Given the description of an element on the screen output the (x, y) to click on. 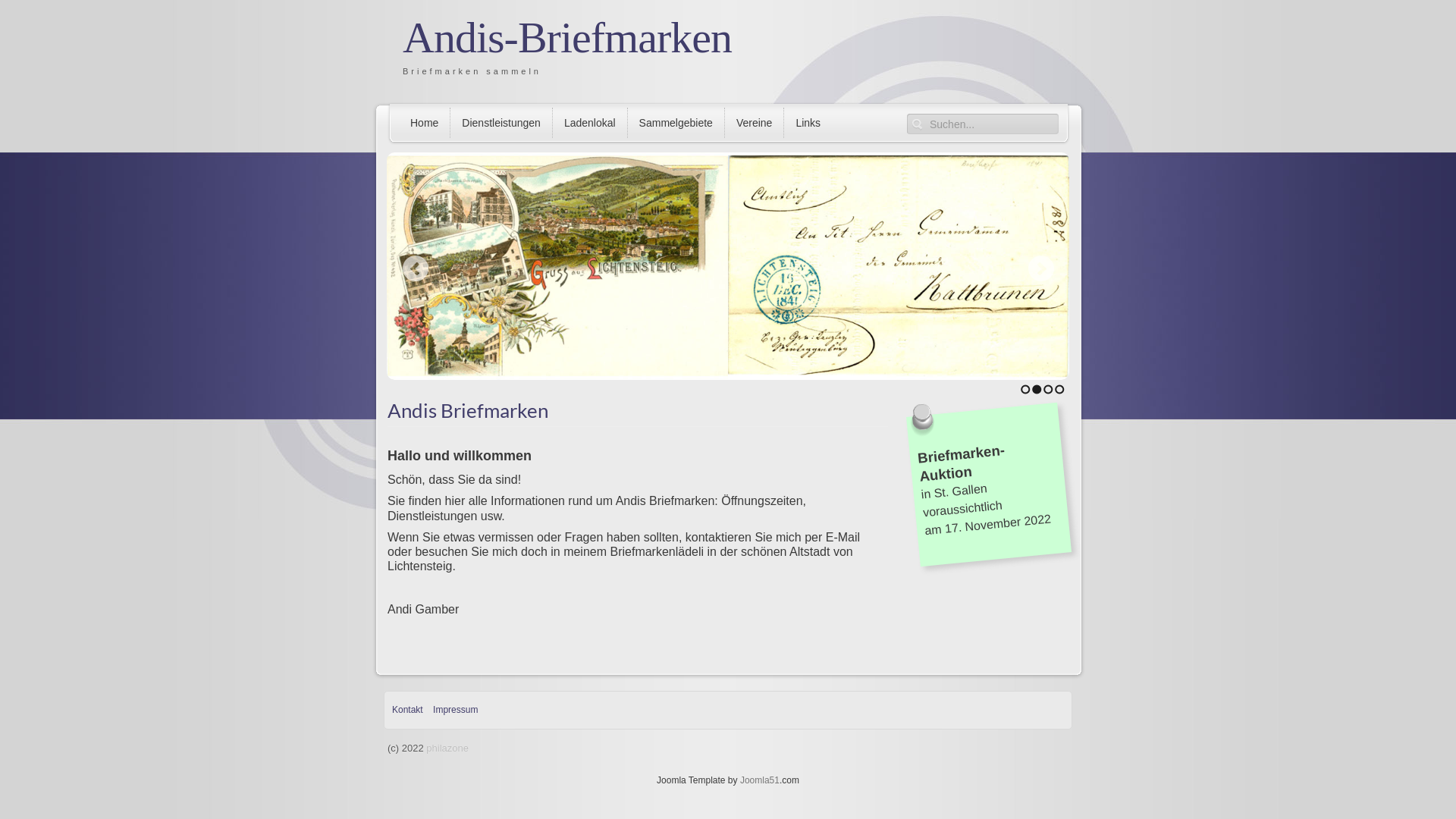
Prev Element type: text (415, 267)
philazone Element type: text (447, 747)
Links Element type: text (807, 122)
3 Element type: text (1048, 389)
4 Element type: text (1059, 389)
Dienstleistungen Element type: text (500, 122)
Impressum Element type: text (455, 709)
Joomla51 Element type: text (759, 780)
Sammelgebiete Element type: text (675, 122)
1 Element type: text (1025, 389)
Andis-Briefmarken Element type: text (566, 37)
Kontakt Element type: text (407, 709)
Ladenlokal Element type: text (589, 122)
Vereine Element type: text (753, 122)
2 Element type: text (1036, 389)
Home Element type: text (423, 122)
Next Element type: text (1040, 267)
